Given the description of an element on the screen output the (x, y) to click on. 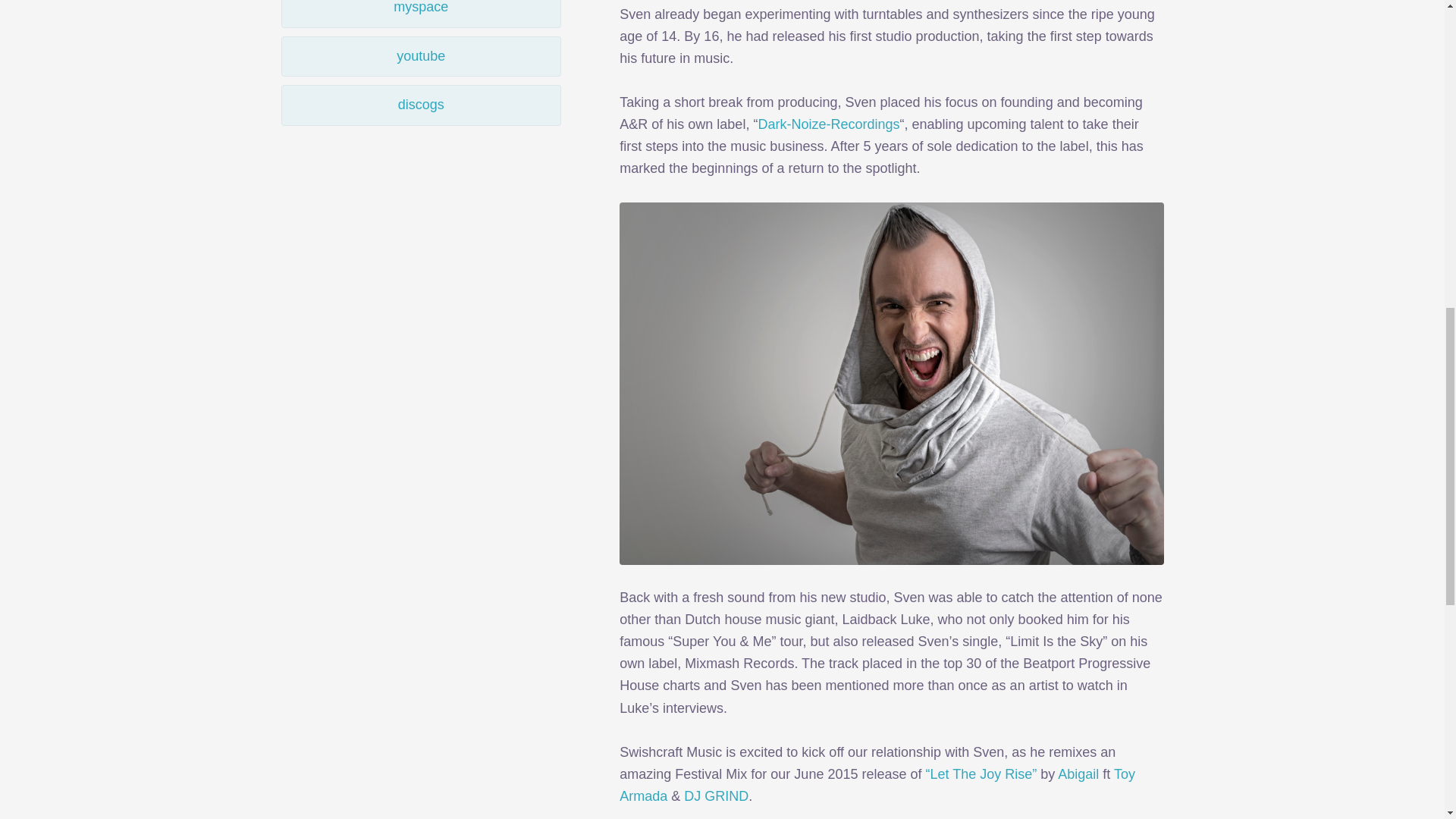
myspace (420, 13)
Dark-Noize-Recordings (828, 124)
Toy Armada (877, 784)
Abigail (1078, 774)
youtube (420, 56)
DJ GRIND (716, 795)
discogs (420, 105)
